Given the description of an element on the screen output the (x, y) to click on. 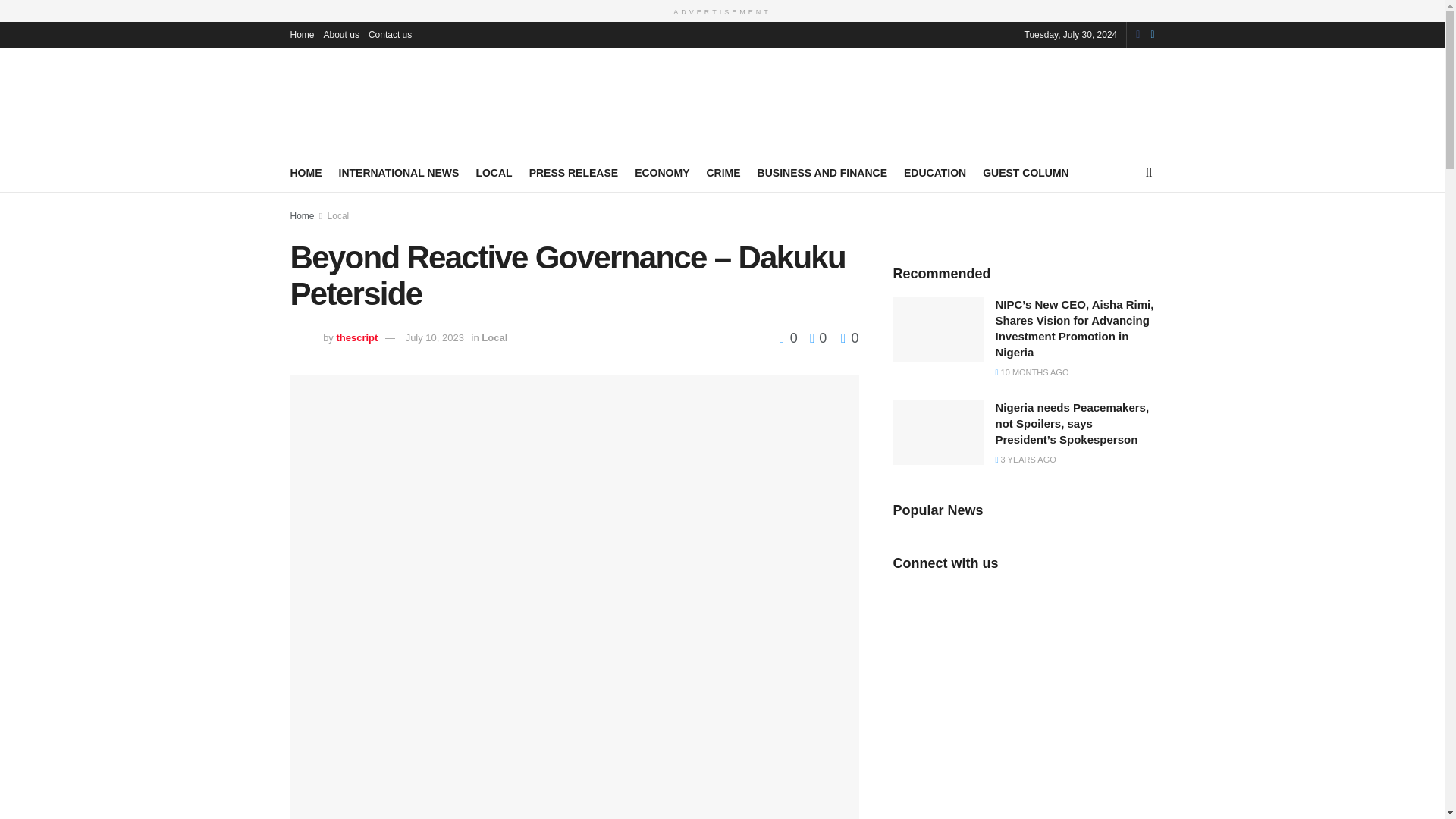
LOCAL (494, 172)
0 (850, 337)
BUSINESS AND FINANCE (821, 172)
ECONOMY (661, 172)
CRIME (722, 172)
Home (301, 215)
0 (814, 337)
Local (493, 337)
GUEST COLUMN (1025, 172)
About us (341, 33)
0 (790, 337)
HOME (305, 172)
PRESS RELEASE (573, 172)
thescript (356, 337)
INTERNATIONAL NEWS (397, 172)
